Given the description of an element on the screen output the (x, y) to click on. 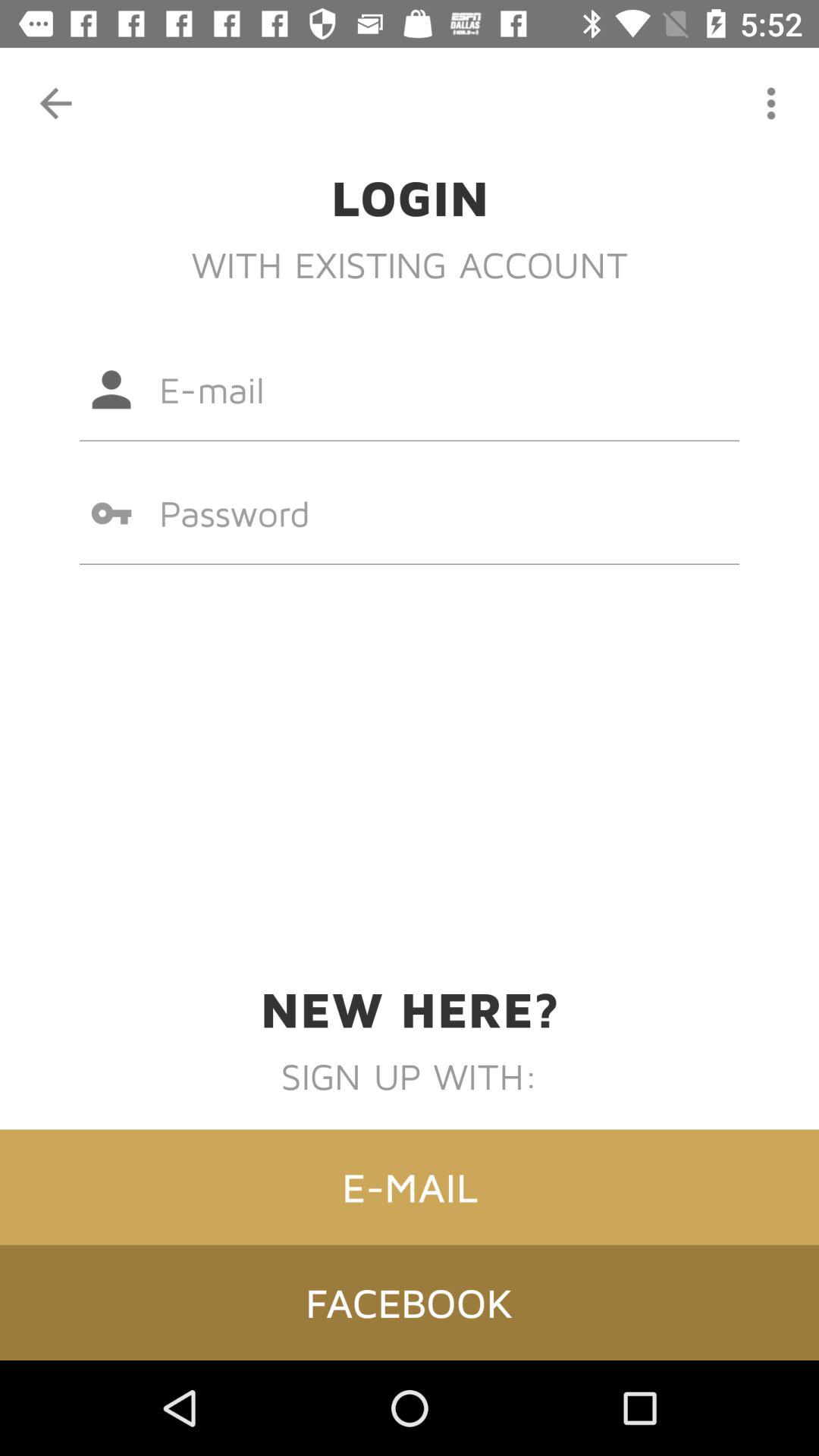
open e-mail (409, 1186)
